Given the description of an element on the screen output the (x, y) to click on. 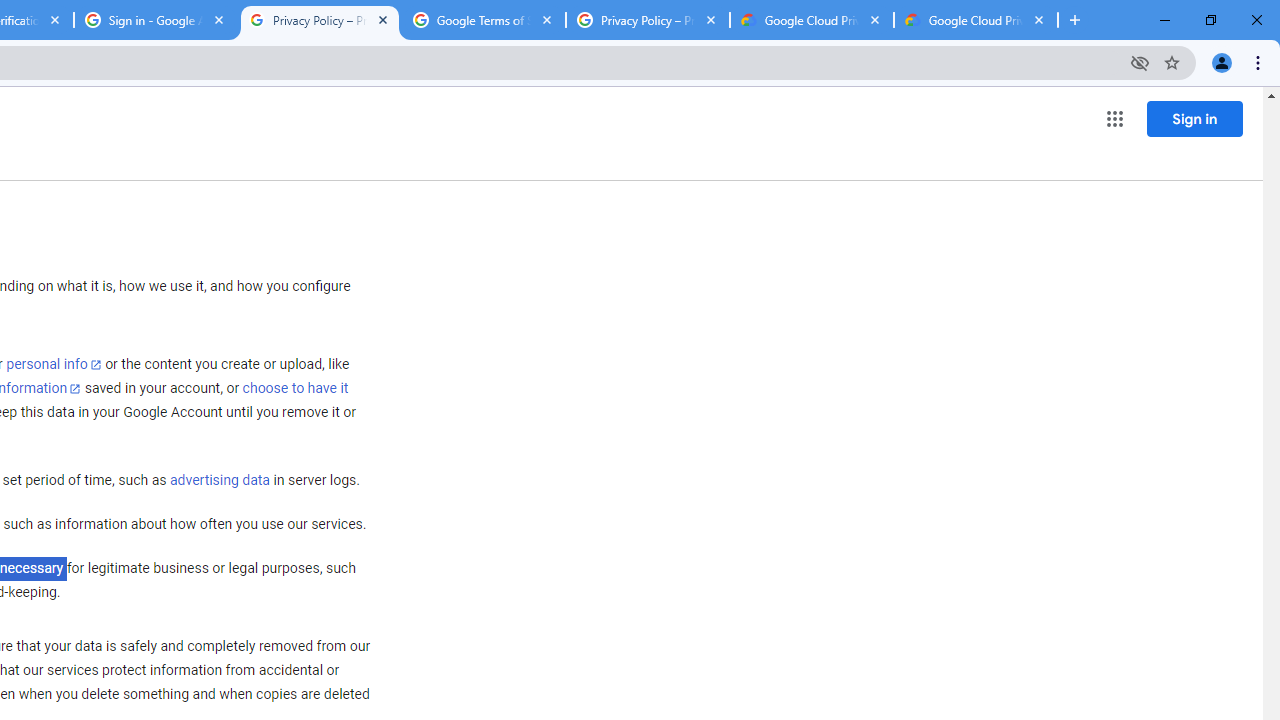
advertising data (219, 481)
Sign in - Google Accounts (156, 20)
Google Cloud Privacy Notice (975, 20)
Google Cloud Privacy Notice (811, 20)
personal info (54, 364)
